Given the description of an element on the screen output the (x, y) to click on. 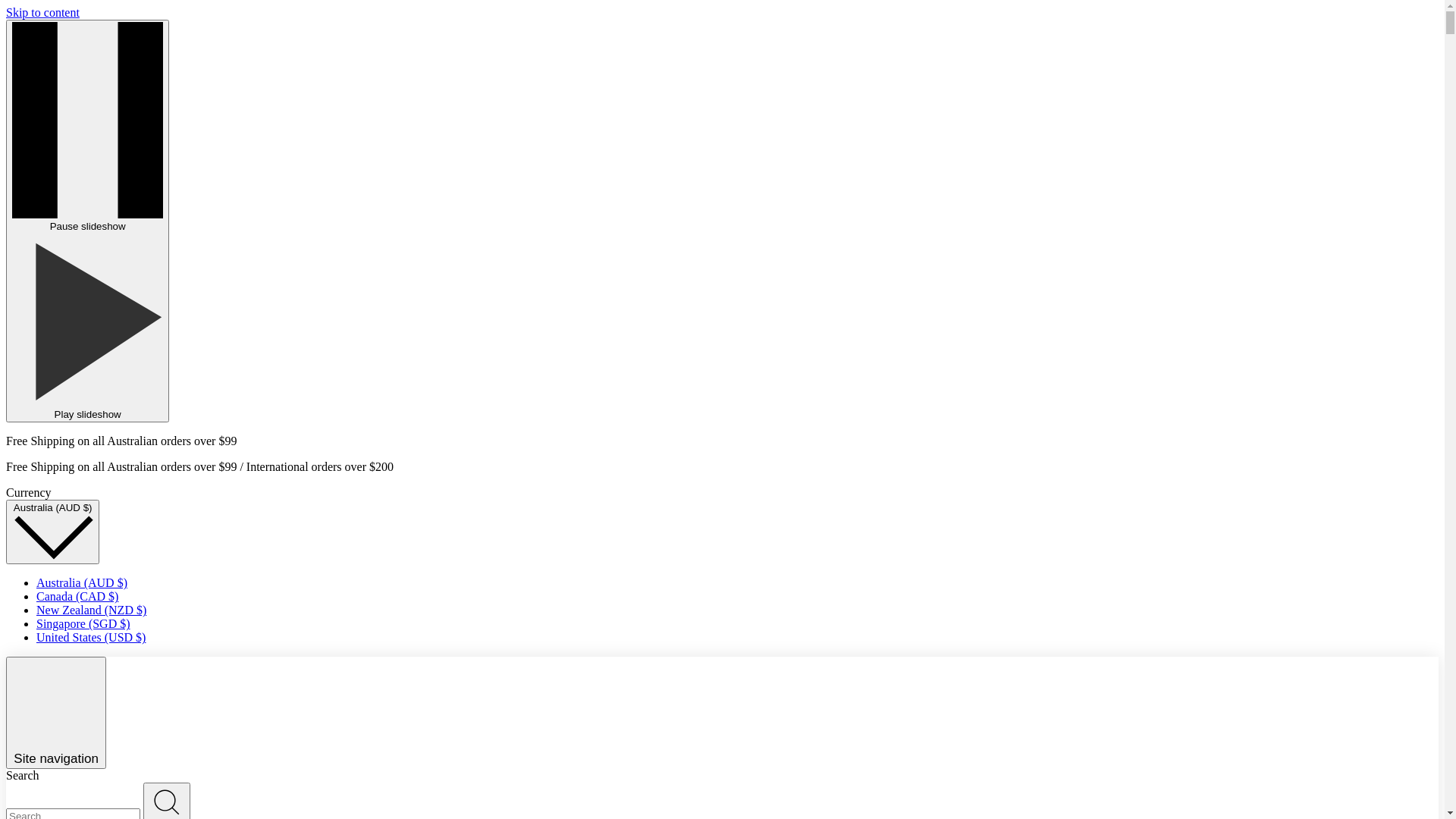
Singapore (SGD $) Element type: text (83, 623)
United States (USD $) Element type: text (90, 636)
Skip to content Element type: text (42, 12)
Australia (AUD $) Element type: text (52, 531)
Canada (CAD $) Element type: text (77, 595)
Pause slideshow Play slideshow Element type: text (87, 220)
... Site navigation Element type: text (56, 712)
New Zealand (NZD $) Element type: text (91, 609)
Australia (AUD $) Element type: text (81, 582)
